Given the description of an element on the screen output the (x, y) to click on. 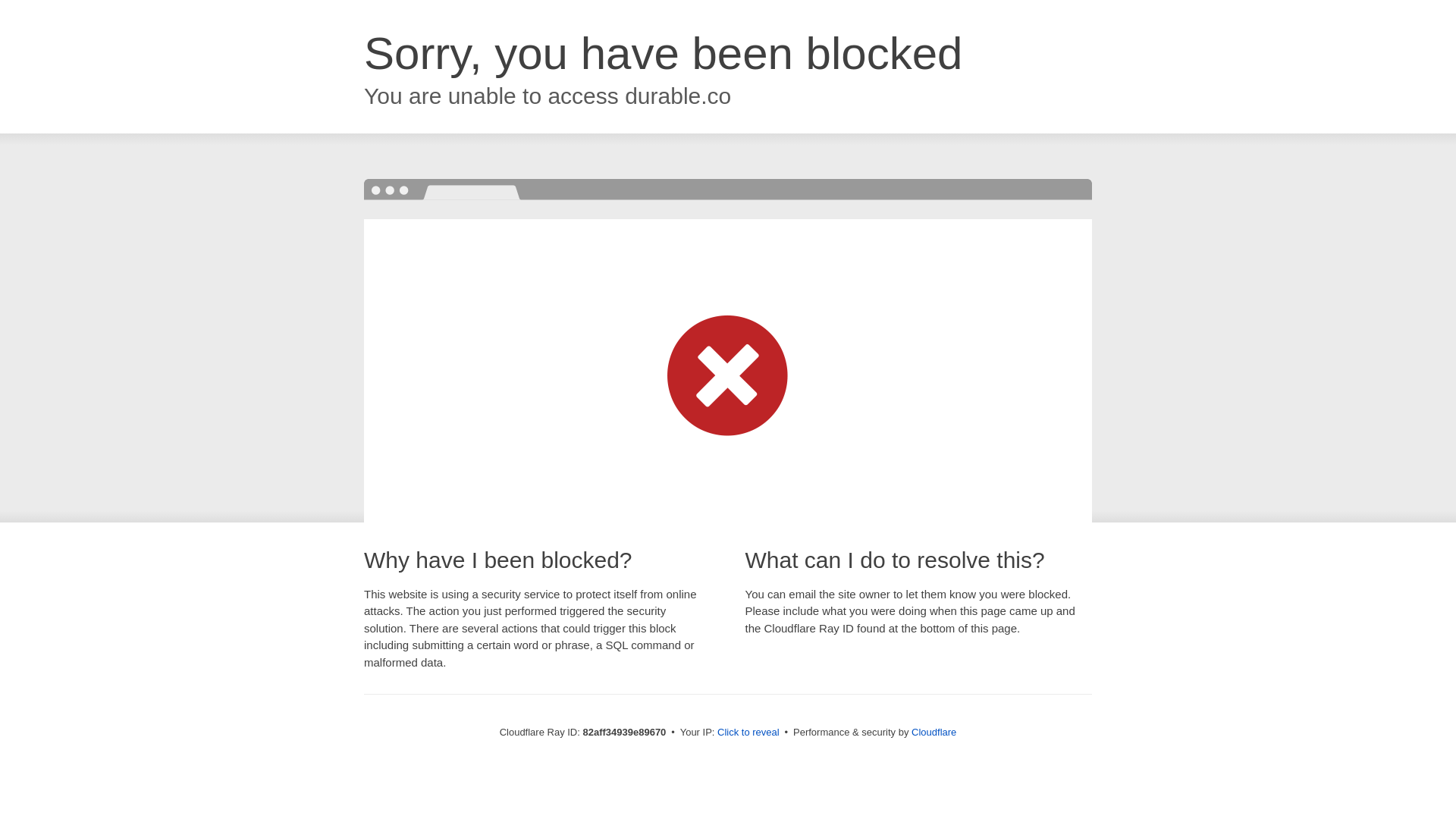
Cloudflare Element type: text (933, 731)
Click to reveal Element type: text (748, 732)
